Given the description of an element on the screen output the (x, y) to click on. 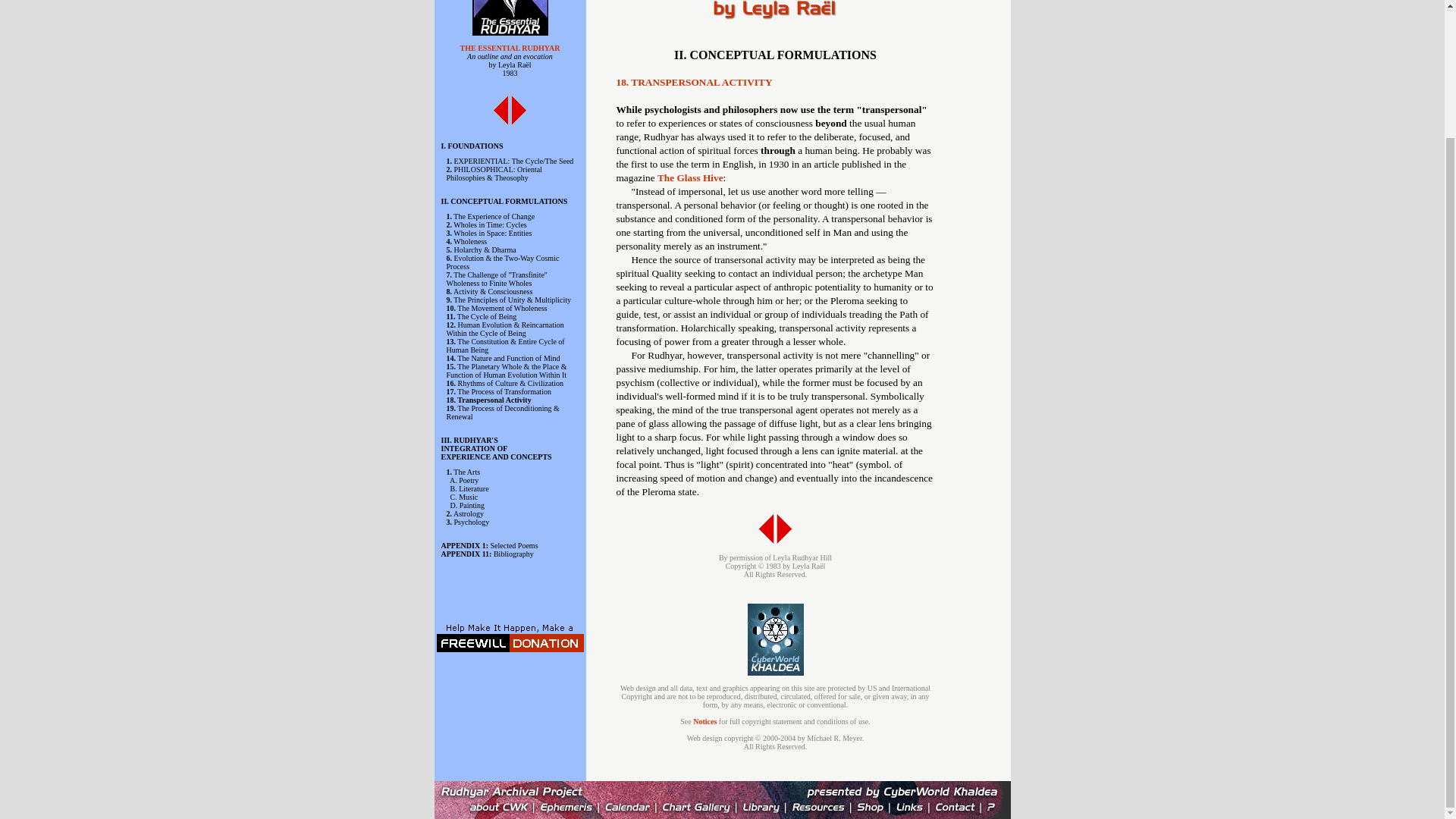
The Nature and Function of Mind (508, 357)
The Challenge of "Transfinite" Wholeness to Finite Wholes (496, 279)
Selected Poems (513, 545)
The Process of Transformation (504, 391)
The Experience of Change (493, 216)
Wholeness (469, 241)
The Glass Hive (690, 177)
Wholes in Space: Entities (491, 233)
C. Music (464, 497)
Psychology (470, 521)
Wholes in Time: Cycles (488, 224)
B. Literature (469, 488)
The Arts (466, 471)
A. Poetry (464, 479)
Bibliography (513, 553)
